Given the description of an element on the screen output the (x, y) to click on. 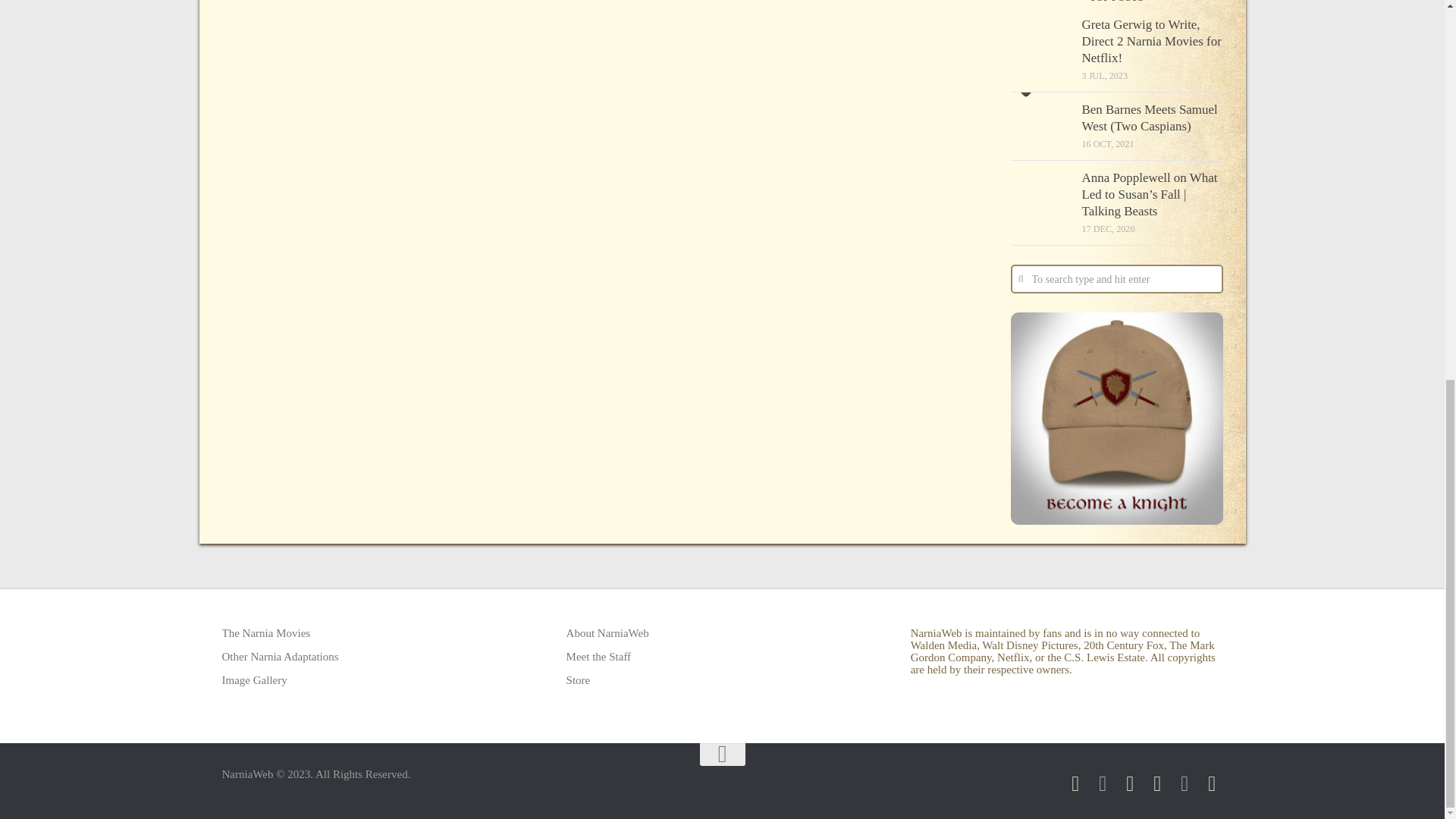
NarniaWeb on Instagram (1102, 783)
NarniaWeb on YouTube (1157, 783)
NarniaWeb on Twitter (1129, 783)
NarniaWeb on Facebook (1075, 783)
To search type and hit enter (1116, 278)
To search type and hit enter (1116, 278)
